Given the description of an element on the screen output the (x, y) to click on. 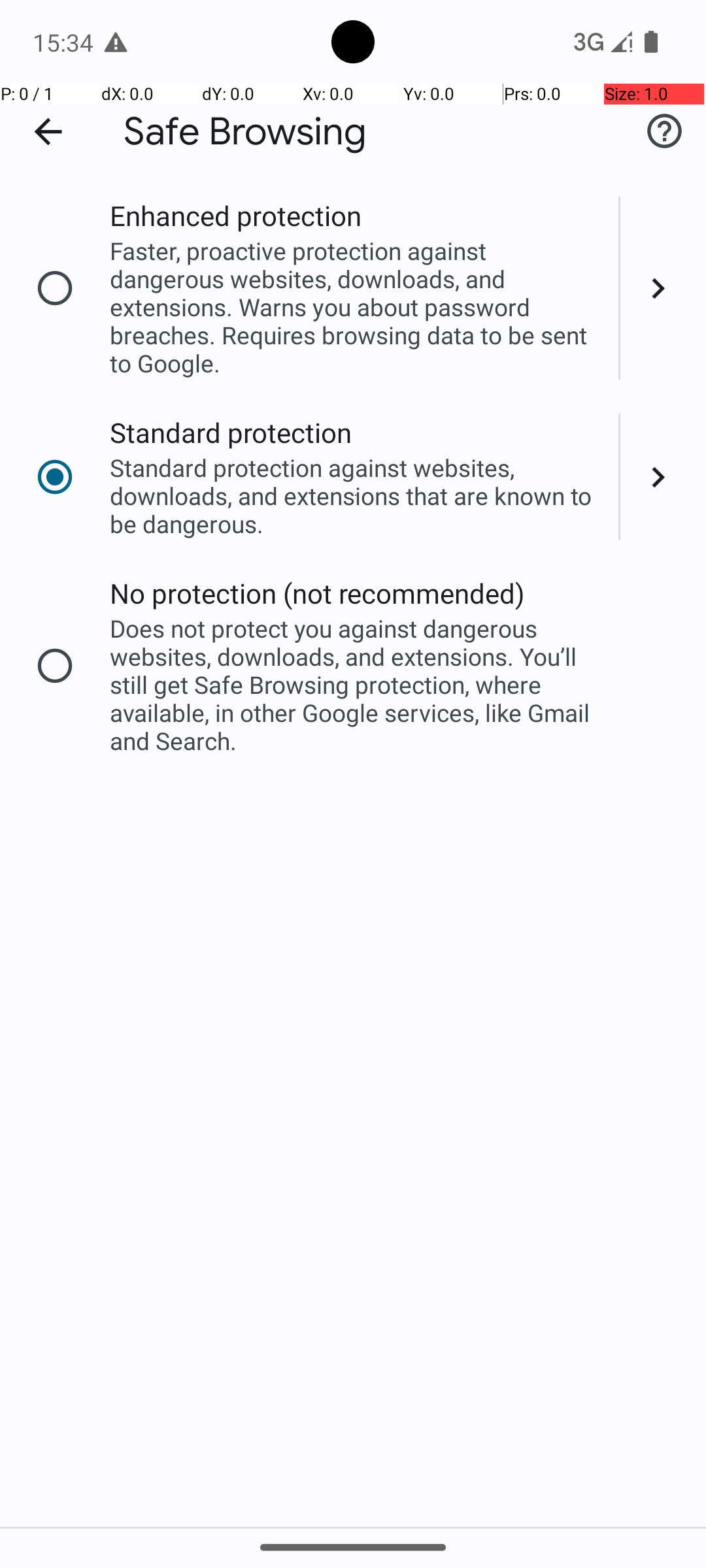
Safe Browsing Element type: android.widget.TextView (244, 131)
Help & feedback Element type: android.widget.Button (664, 131)
Enhanced protection Element type: android.widget.TextView (235, 214)
Faster, proactive protection against dangerous websites, downloads, and extensions. Warns you about password breaches. Requires browsing data to be sent to Google. Element type: android.widget.TextView (355, 306)
Expand Element type: android.widget.ImageButton (663, 287)
Standard protection Element type: android.widget.TextView (230, 431)
Standard protection against websites, downloads, and extensions that are known to be dangerous. Element type: android.widget.TextView (355, 495)
No protection (not recommended) Element type: android.widget.TextView (317, 592)
Does not protect you against dangerous websites, downloads, and extensions. You’ll still get Safe Browsing protection, where available, in other Google services, like Gmail and Search. Element type: android.widget.TextView (355, 684)
